Given the description of an element on the screen output the (x, y) to click on. 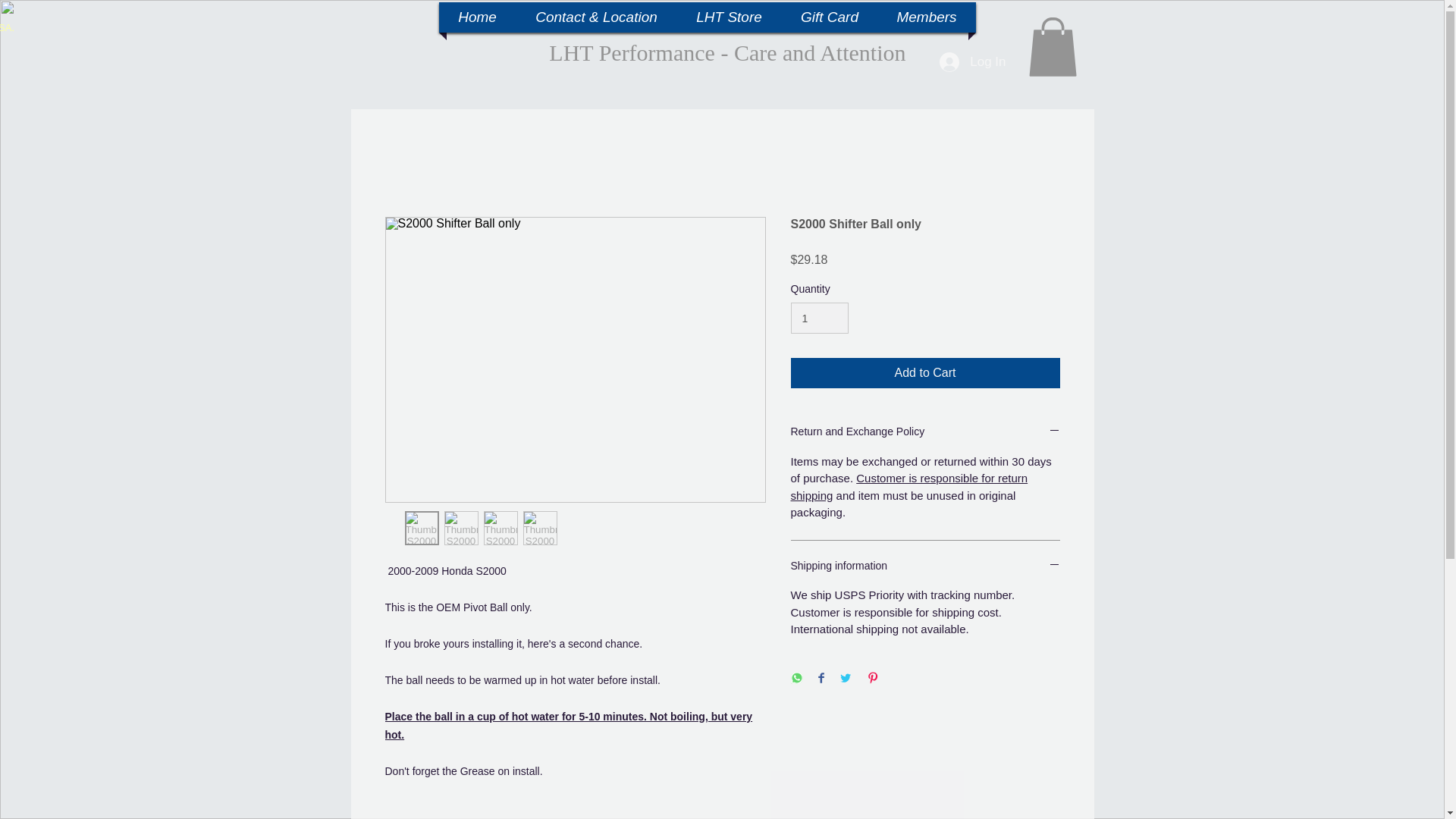
LHT Performance - Care and Attention (726, 52)
Members (925, 17)
LHT Store (729, 17)
Log In (972, 61)
1 (818, 317)
Home (477, 17)
Gift Card (830, 17)
Return and Exchange Policy (924, 432)
Add to Cart (924, 372)
Shipping information (924, 566)
